Given the description of an element on the screen output the (x, y) to click on. 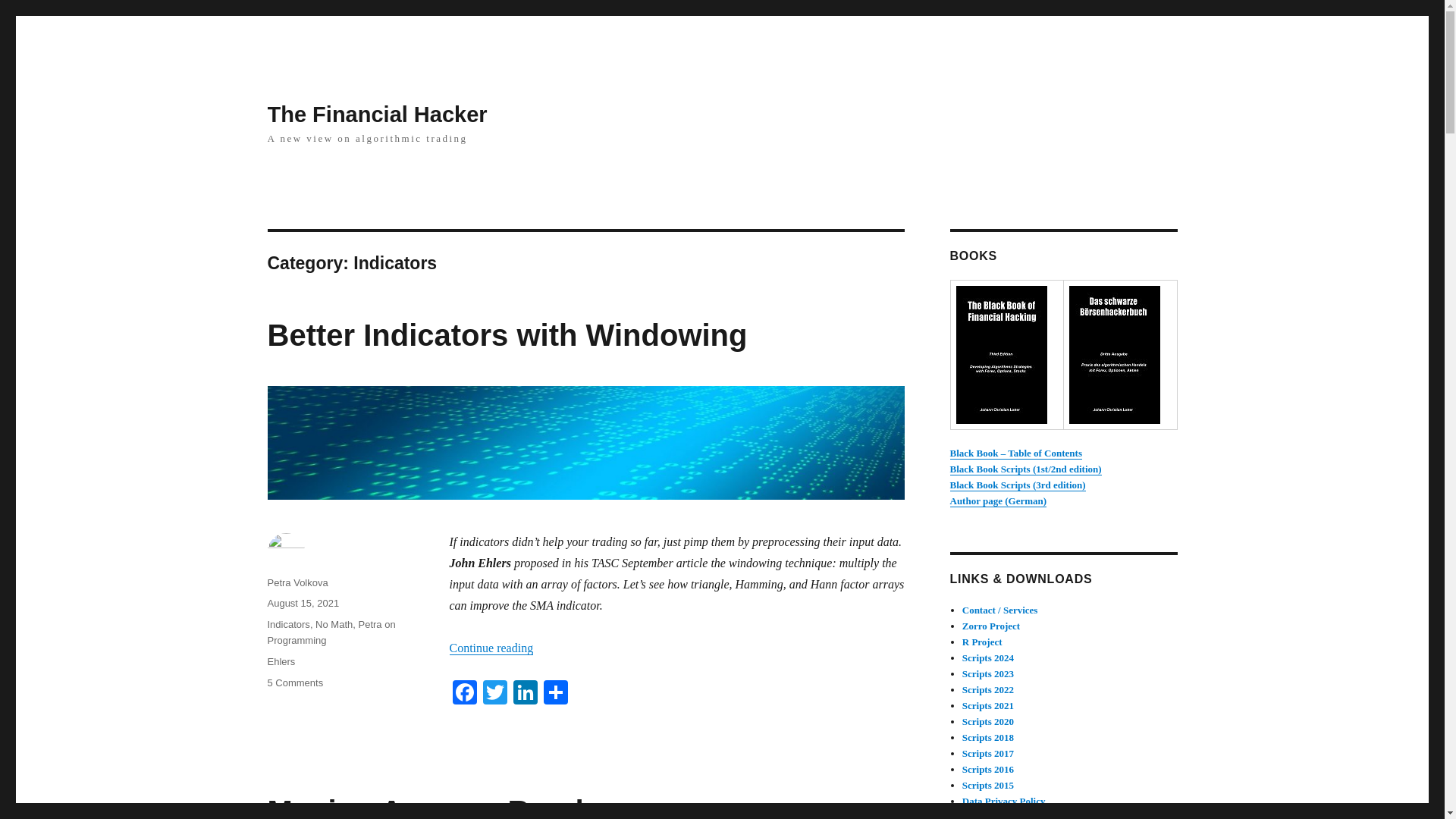
Twitter (494, 694)
Facebook (463, 694)
Ehlers (280, 661)
Better Indicators with Windowing (506, 335)
Petra on Programming (330, 632)
August 15, 2021 (302, 603)
Petra Volkova (296, 582)
Facebook (463, 694)
Twitter (494, 694)
No Math (333, 624)
